Given the description of an element on the screen output the (x, y) to click on. 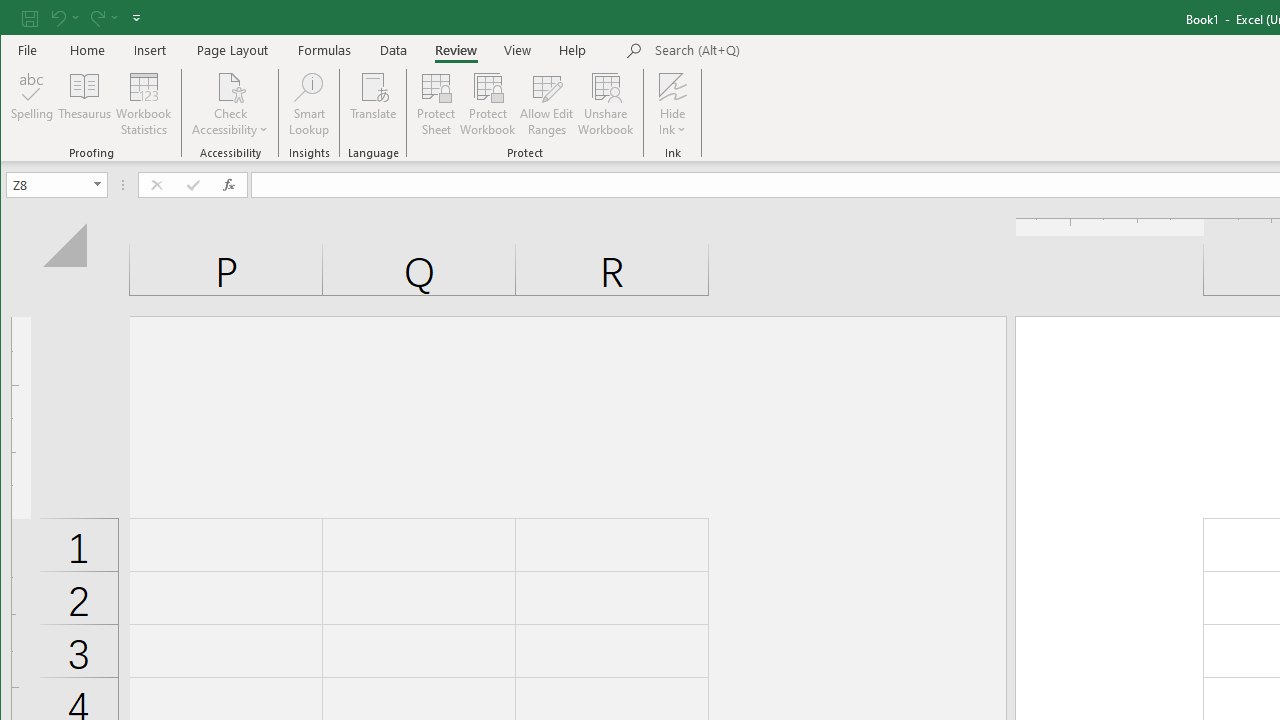
Protect Workbook... (488, 104)
Thesaurus... (84, 104)
